Given the description of an element on the screen output the (x, y) to click on. 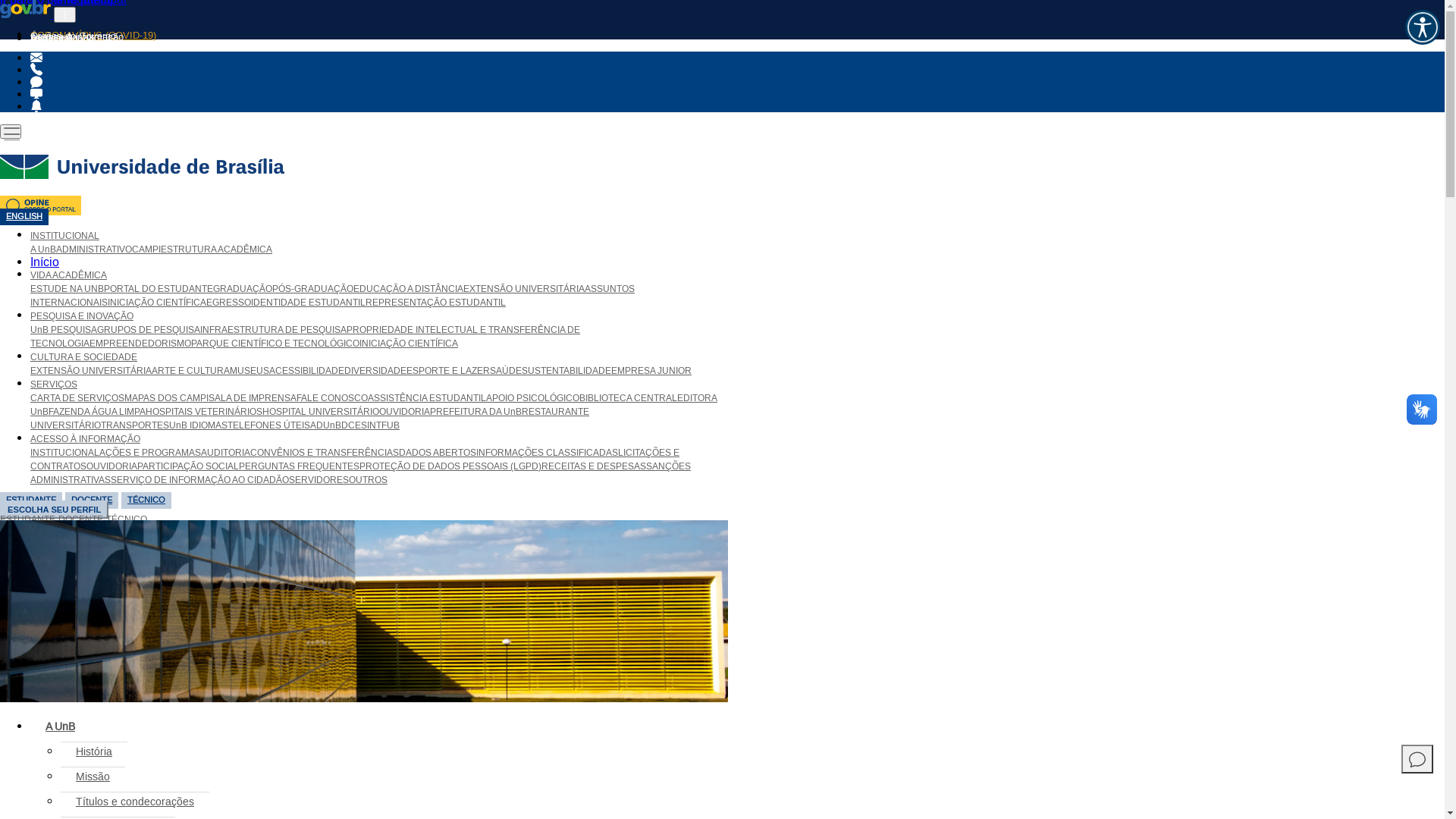
ESTUDANTE Element type: text (31, 500)
DIVERSIDADE Element type: text (375, 370)
BIBLIOTECA CENTRAL Element type: text (628, 398)
PREFEITURA DA UnB Element type: text (475, 411)
ENGLISH Element type: text (24, 216)
Comente o Portal Element type: hover (1417, 758)
ADMINISTRATIVO Element type: text (93, 249)
OUTROS Element type: text (367, 480)
ASSUNTOS INTERNACIONAIS Element type: text (332, 295)
AUDITORIA Element type: text (225, 452)
ESCOLHA SEU PERFIL Element type: text (54, 509)
Sistemas UnB Element type: hover (36, 94)
MUSEUS Element type: text (249, 370)
FALE CONOSCO Element type: text (331, 398)
A UnB Element type: text (60, 727)
UnB IDIOMAS Element type: text (198, 425)
IDENTIDADE ESTUDANTIL Element type: text (308, 302)
A UnB Element type: text (43, 249)
DOCENTE Element type: text (80, 519)
SALA DE IMPRENSA Element type: text (252, 398)
GRUPOS DE PESQUISA Element type: text (148, 329)
MAPAS DOS CAMPI Element type: text (166, 398)
INFRAESTRUTURA DE PESQUISA Element type: text (273, 329)
OUVIDORIA Element type: text (111, 466)
INSTITUCIONAL Element type: text (64, 235)
SINTFUB Element type: text (379, 425)
UnB PESQUISA Element type: text (63, 329)
OUVIDORIA Element type: text (404, 411)
ESTUDANTE Element type: text (27, 519)
INSTITUCIONAL Element type: text (64, 452)
EGRESSO Element type: text (228, 302)
ARTE E CULTURA Element type: text (190, 370)
ESPORTE E LAZER Element type: text (447, 370)
EMPREENDEDORISMO Element type: text (140, 343)
EMPRESA JUNIOR Element type: text (651, 370)
Acessibilidade Element type: text (62, 39)
Fala BR Element type: hover (36, 82)
Opine sobre o Portal Element type: hover (40, 211)
RECEITAS E DESPESAS Element type: text (593, 466)
CULTURA E SOCIEDADE Element type: text (83, 357)
ACESSIBILIDADE Element type: text (306, 370)
DADOS ABERTOS Element type: text (437, 452)
SUSTENTABILIDADE Element type: text (566, 370)
Participe Element type: text (49, 38)
DOCENTE Element type: text (91, 500)
ADUnB Element type: text (325, 425)
DCE Element type: text (350, 425)
EDITORA UnB Element type: text (373, 404)
Portal Gov.br Element type: hover (25, 9)
SERVIDORES Element type: text (318, 480)
UnB Muito Prazer Element type: hover (36, 70)
ESTUDE NA UNB Element type: text (66, 288)
Email Institucional Element type: hover (36, 57)
Pular menu lateral Element type: text (49, 713)
PORTAL DO ESTUDANTE Element type: text (158, 288)
TRANSPORTES Element type: text (134, 425)
CAMPI Element type: text (145, 249)
PERGUNTAS FREQUENTES Element type: text (298, 466)
